Given the description of an element on the screen output the (x, y) to click on. 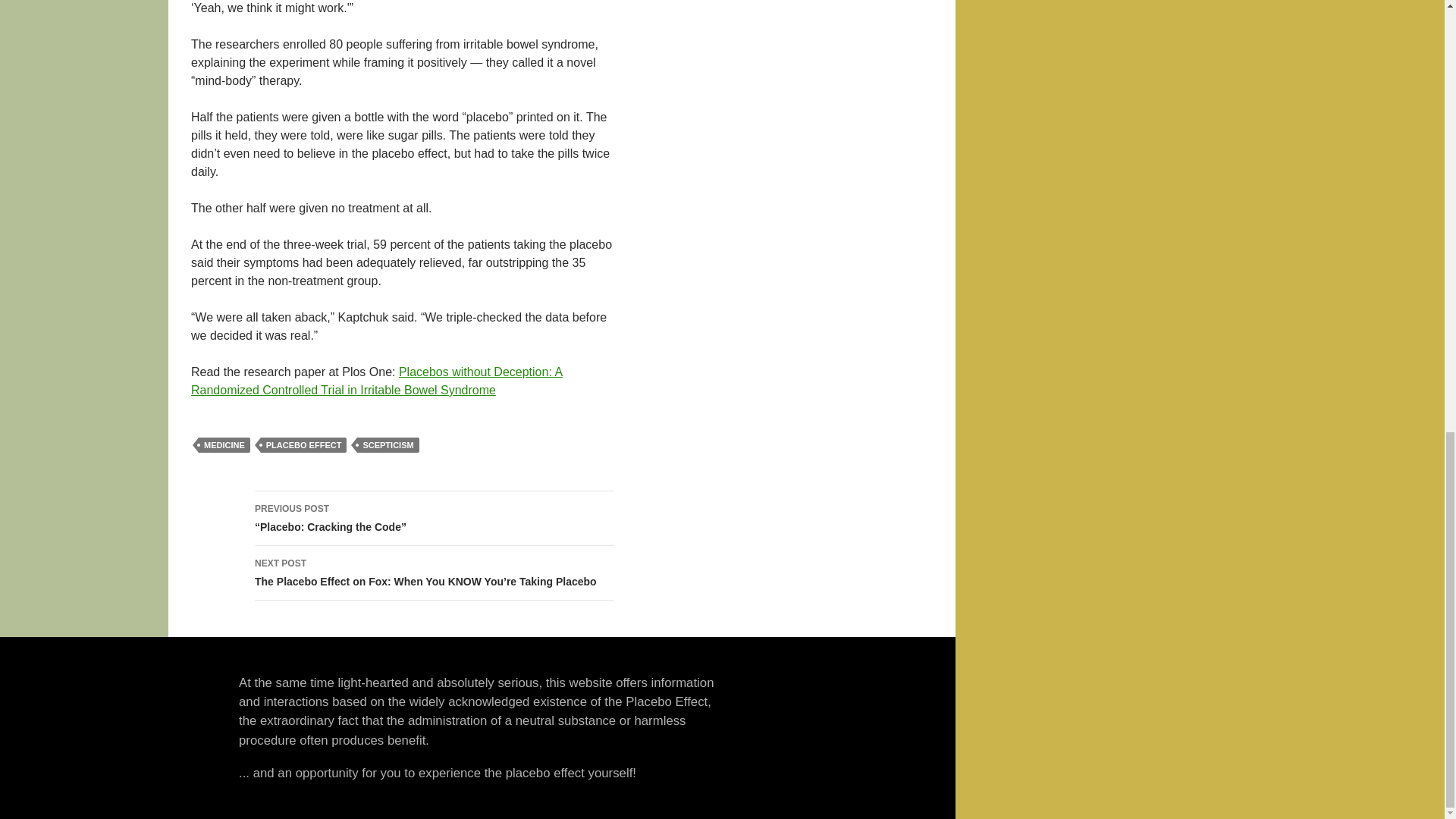
MEDICINE (224, 444)
SCEPTICISM (387, 444)
PLACEBO EFFECT (303, 444)
